Given the description of an element on the screen output the (x, y) to click on. 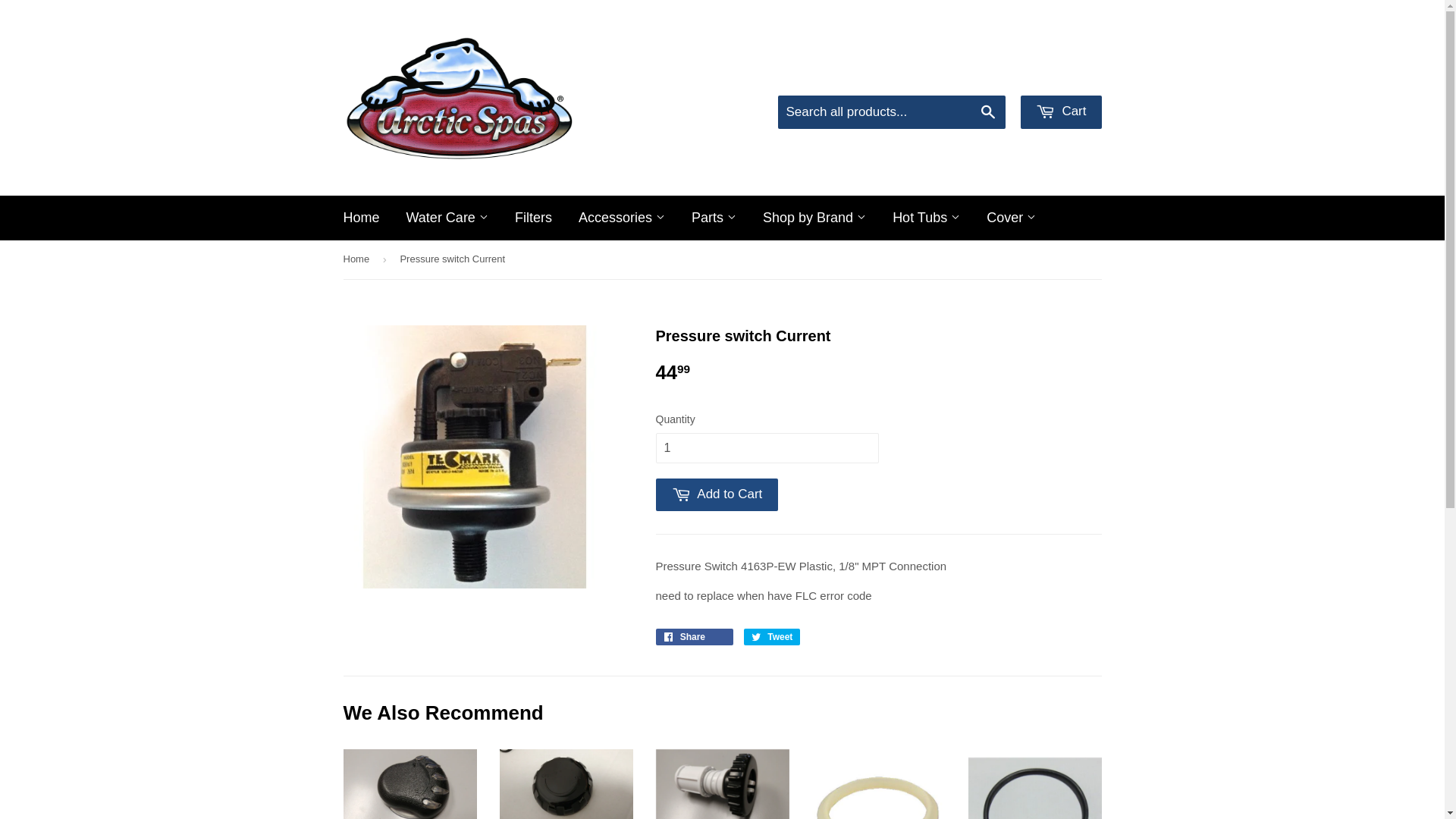
Search Element type: text (988, 112)
Tweet
Tweet on Twitter Element type: text (771, 636)
Create an Account Element type: text (1058, 75)
Cart Element type: text (1060, 111)
Share
Share on Facebook Element type: text (693, 636)
Water Care Element type: text (447, 217)
Shop by Brand Element type: text (814, 217)
Hot Tubs Element type: text (926, 217)
Sign in Element type: text (978, 75)
Accessories Element type: text (621, 217)
Filters Element type: text (533, 217)
Home Element type: text (361, 217)
Cover Element type: text (1011, 217)
Parts Element type: text (713, 217)
Home Element type: text (358, 259)
Add to Cart Element type: text (716, 494)
